Given the description of an element on the screen output the (x, y) to click on. 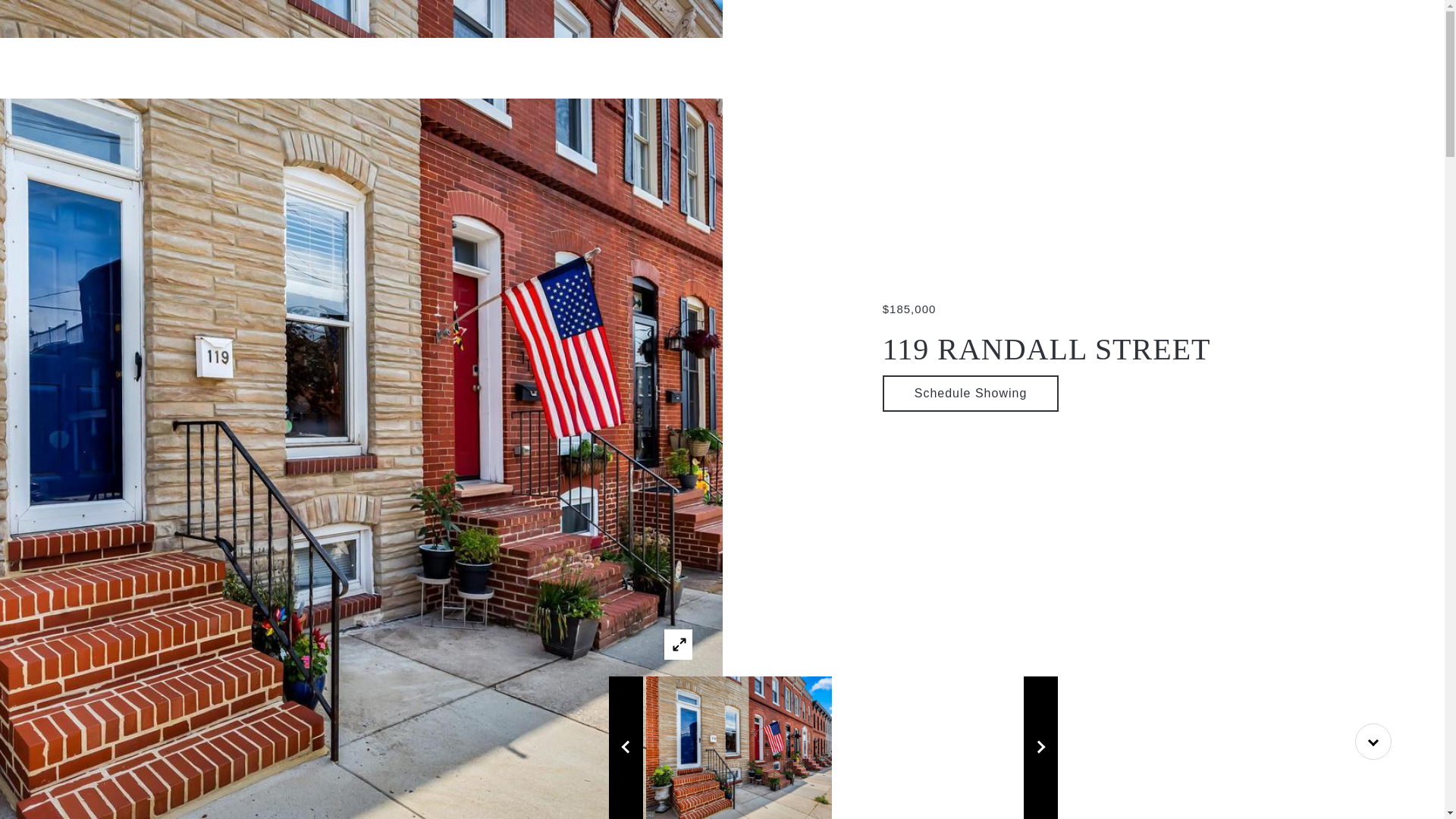
Schedule Showing (970, 393)
